Given the description of an element on the screen output the (x, y) to click on. 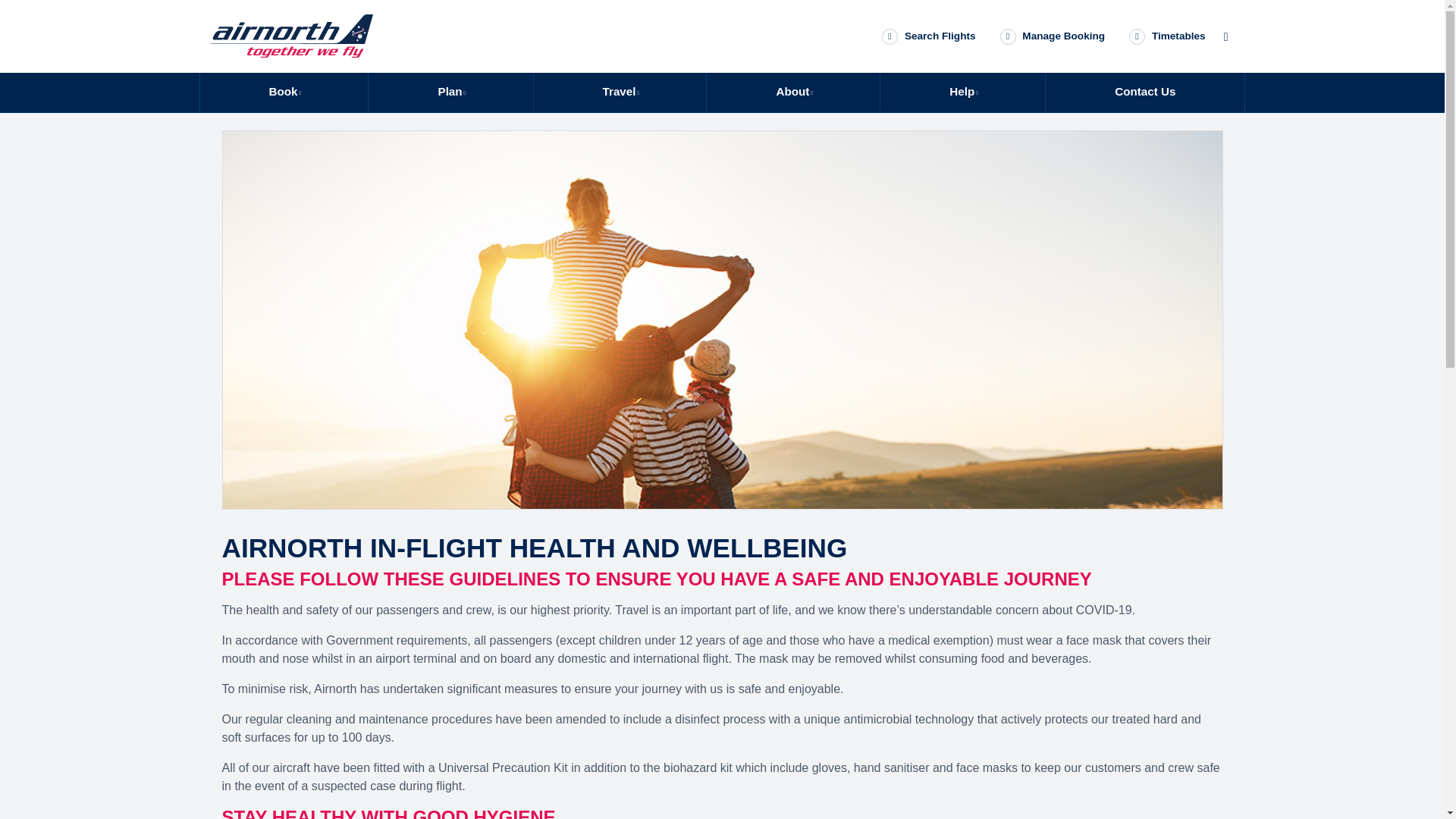
Manage Booking (1053, 36)
Timetables (1166, 36)
Plan (450, 92)
Book (284, 92)
Book (284, 92)
Plan (450, 92)
Search Flights (928, 36)
